Given the description of an element on the screen output the (x, y) to click on. 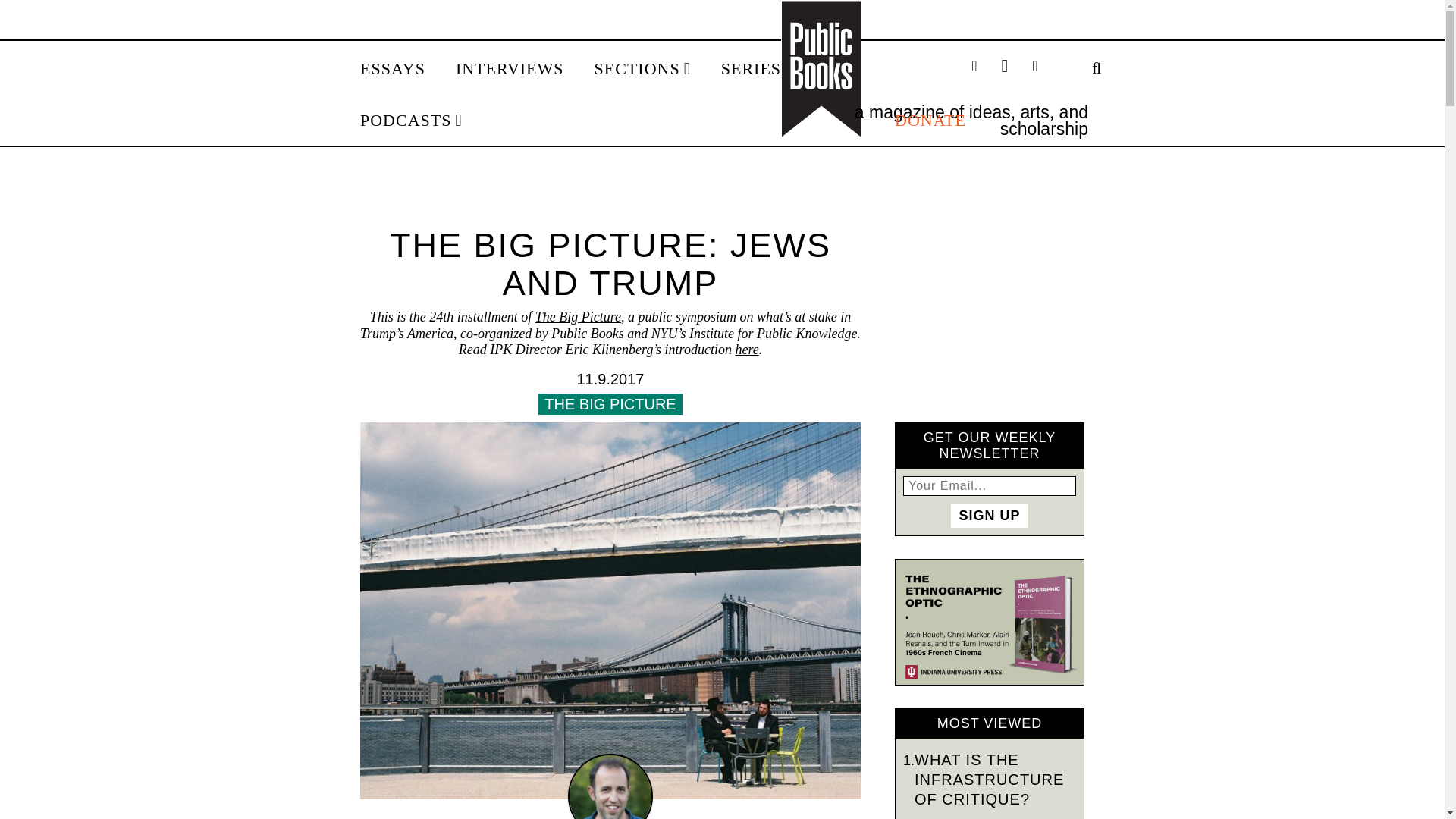
ESSAYS (392, 69)
INTERVIEWS (509, 69)
SERIES (756, 69)
Sign Up (988, 515)
SECTIONS (642, 69)
a magazine of ideas, arts, and scholarship (970, 120)
